Given the description of an element on the screen output the (x, y) to click on. 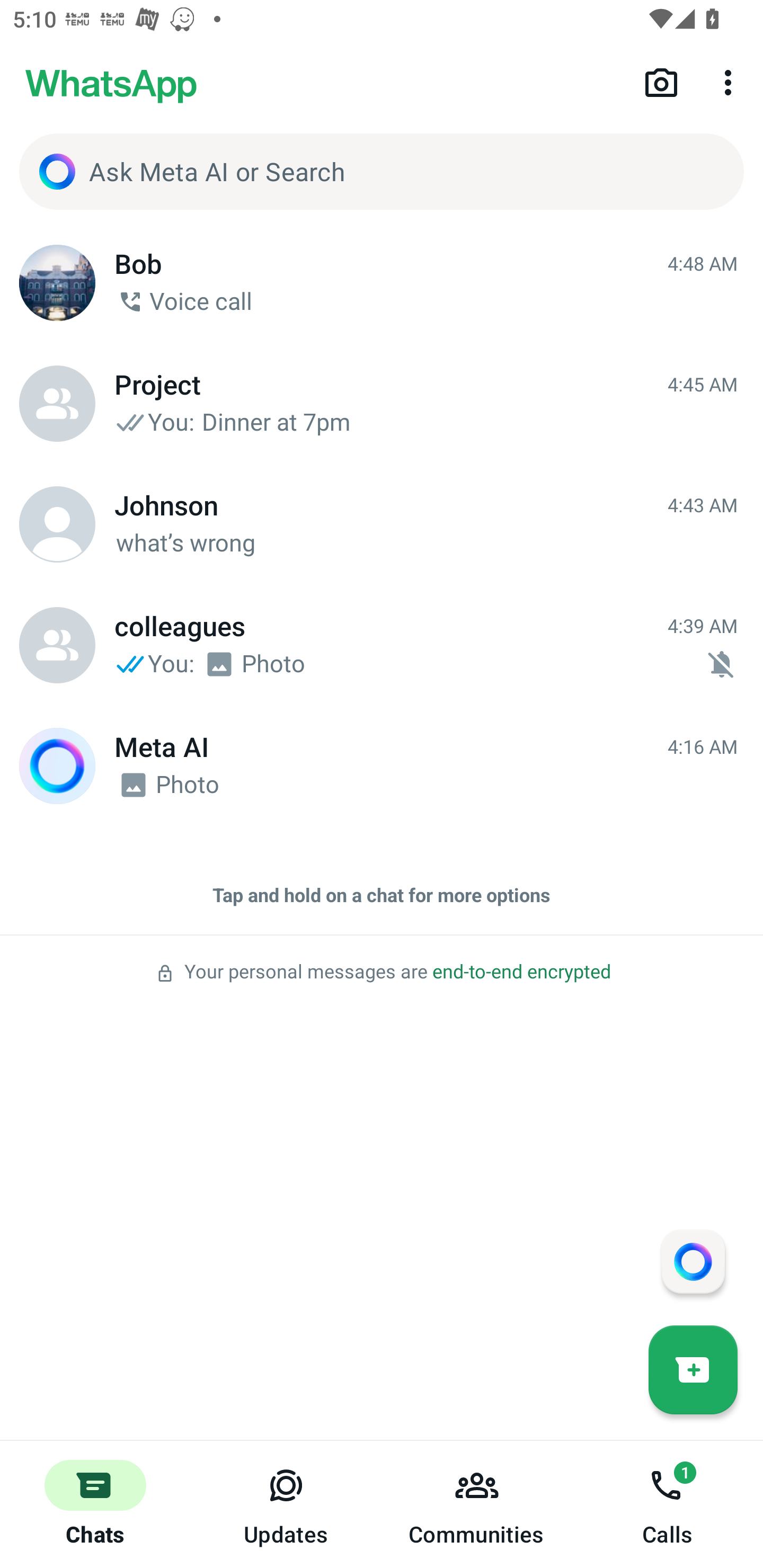
Camera (661, 81)
More options (731, 81)
Bob Bob 4:48 AM 4:48 AM Voice call (381, 282)
Bob (57, 282)
Project (57, 403)
Johnson Johnson 4:43 AM 4:43 AM what’s wrong (381, 524)
Johnson (57, 524)
colleagues (57, 644)
Meta AI Meta AI 4:16 AM 4:16 AM Photo (381, 765)
Meta AI (57, 765)
end-to-end encrypted (521, 972)
Message your assistant (692, 1261)
New chat (692, 1369)
Updates (285, 1504)
Communities (476, 1504)
Calls, 1 new notification Calls (667, 1504)
